Given the description of an element on the screen output the (x, y) to click on. 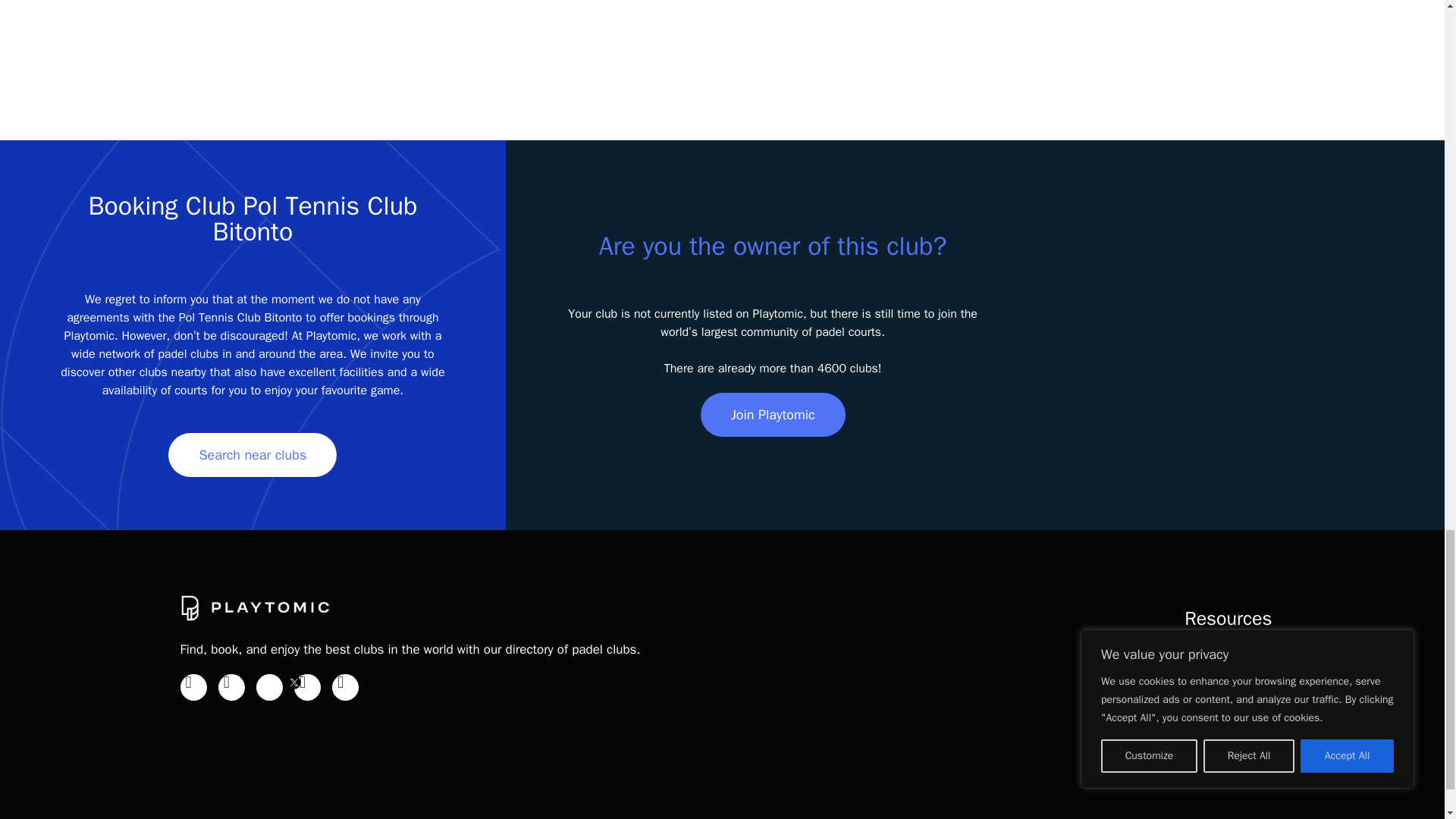
Join Playtomic (772, 414)
Search near clubs (252, 454)
News (1256, 670)
